Given the description of an element on the screen output the (x, y) to click on. 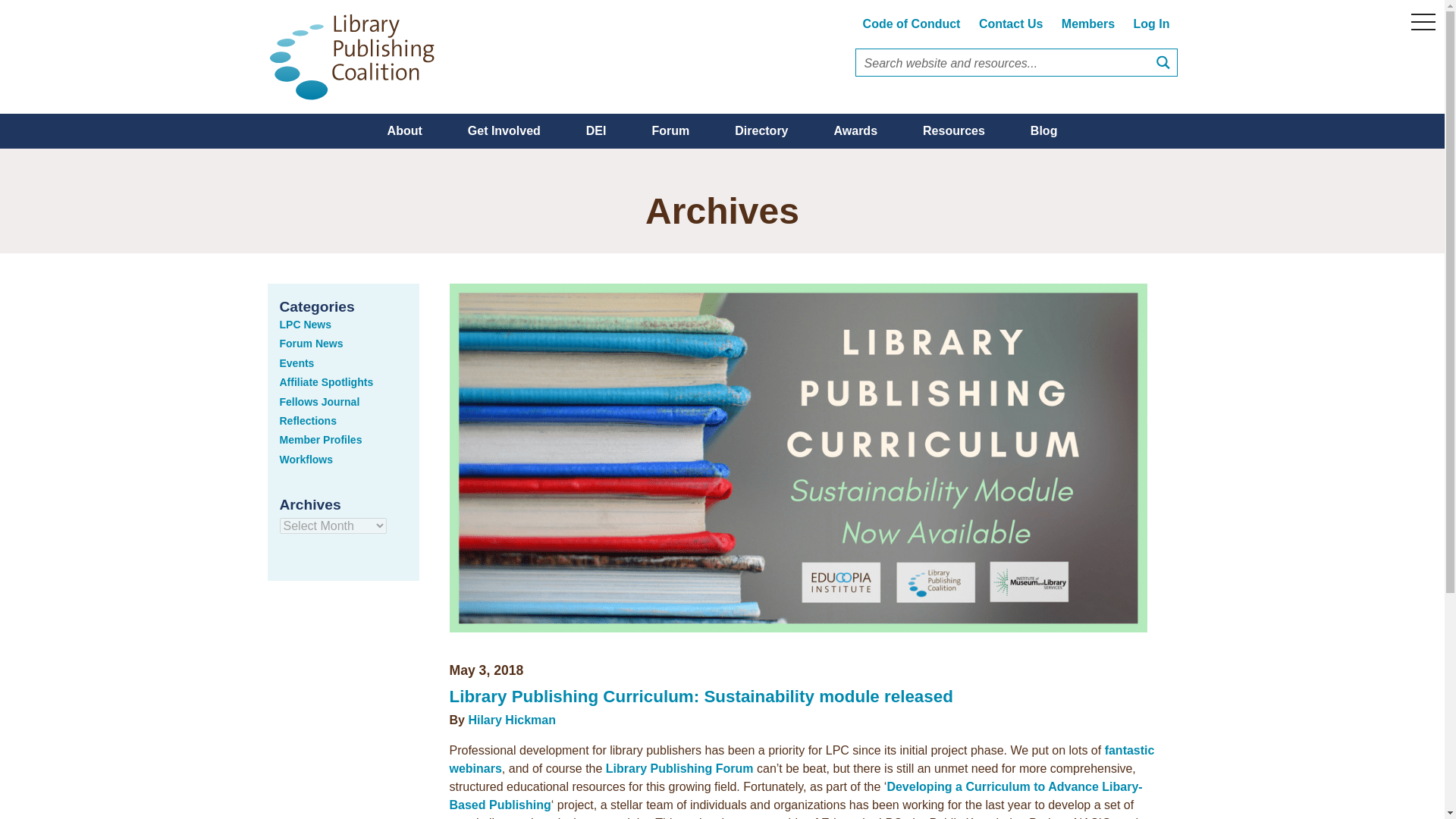
Awards (855, 130)
Hilary Hickman (511, 719)
About (405, 130)
DEI (595, 130)
LPC News (304, 324)
Reflections (307, 420)
Home (357, 56)
Member Profiles (320, 439)
Fellows Journal (319, 401)
Library Publishing Coalition (357, 56)
Log In (1151, 23)
Forum News (310, 343)
fantastic webinars (801, 758)
Directory (760, 130)
Workflows (306, 459)
